Given the description of an element on the screen output the (x, y) to click on. 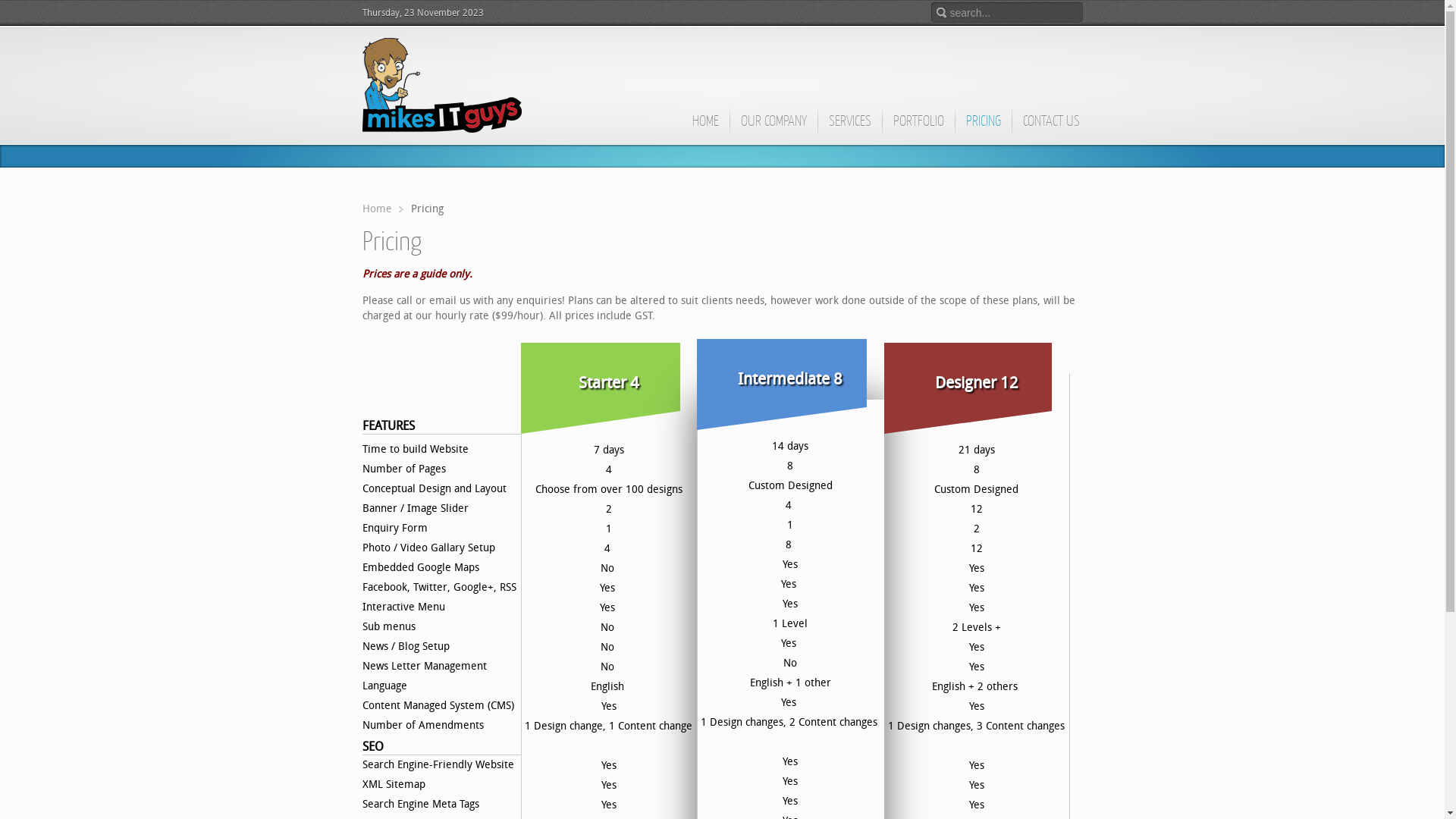
PORTFOLIO Element type: text (917, 127)
CONTACT US Element type: text (1050, 127)
PRICING Element type: text (981, 127)
Reset Element type: text (3, 3)
Home Element type: text (382, 208)
OUR COMPANY Element type: text (773, 127)
  Element type: text (441, 84)
SERVICES Element type: text (849, 127)
HOME Element type: text (704, 127)
